Given the description of an element on the screen output the (x, y) to click on. 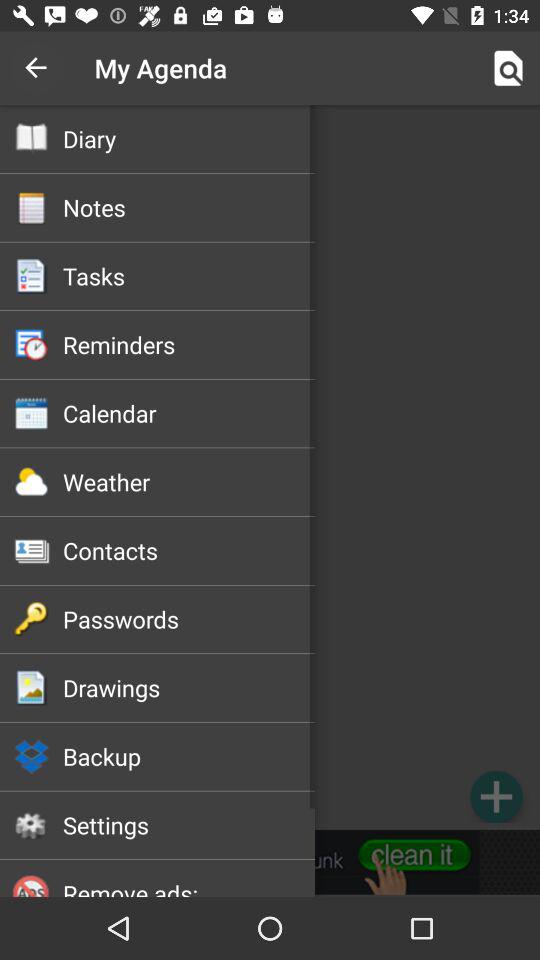
add entry (496, 796)
